Given the description of an element on the screen output the (x, y) to click on. 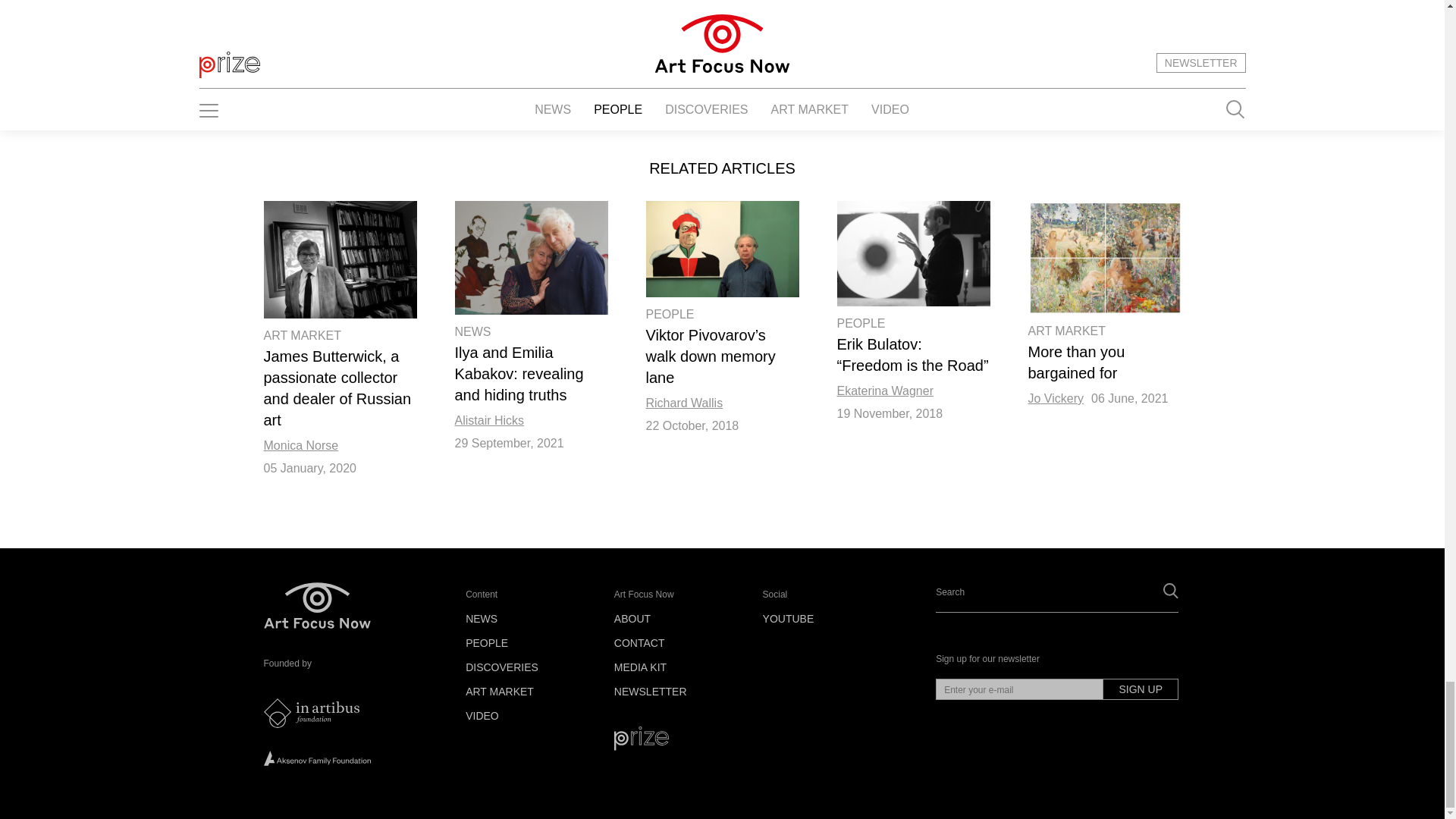
The Art Newspapper (311, 713)
SIGN UP (1065, 31)
SIGN UP (1140, 689)
SIGN UP (1065, 31)
ART MARKET (302, 335)
Aksenov Family Foundation (317, 758)
Ilya and Emilia Kabakov: revealing and hiding truths (531, 256)
More than you bargained for (1103, 256)
